Given the description of an element on the screen output the (x, y) to click on. 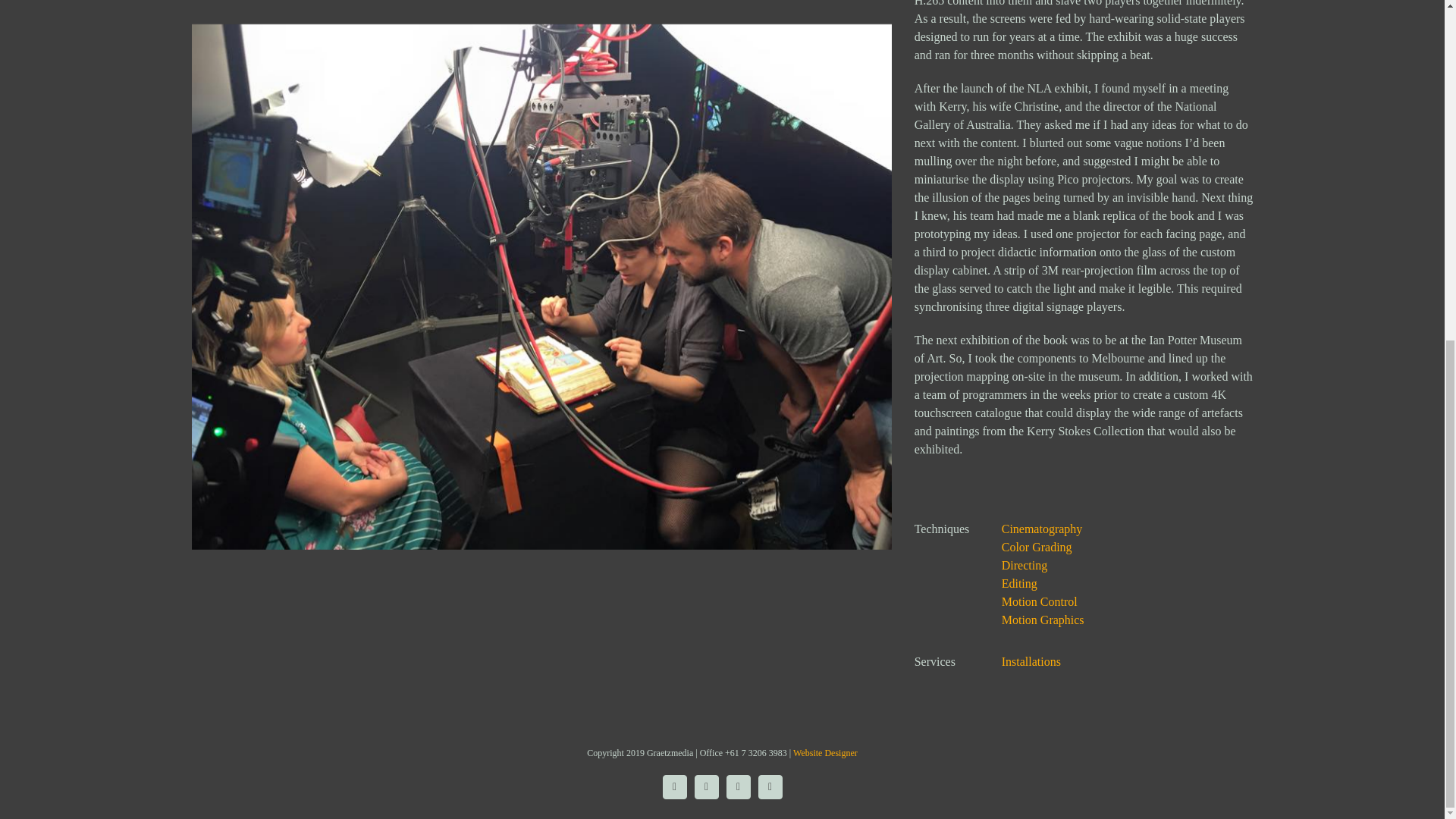
Vimeo (706, 786)
YouTube (770, 786)
Facebook (738, 786)
Instagram (674, 786)
